Given the description of an element on the screen output the (x, y) to click on. 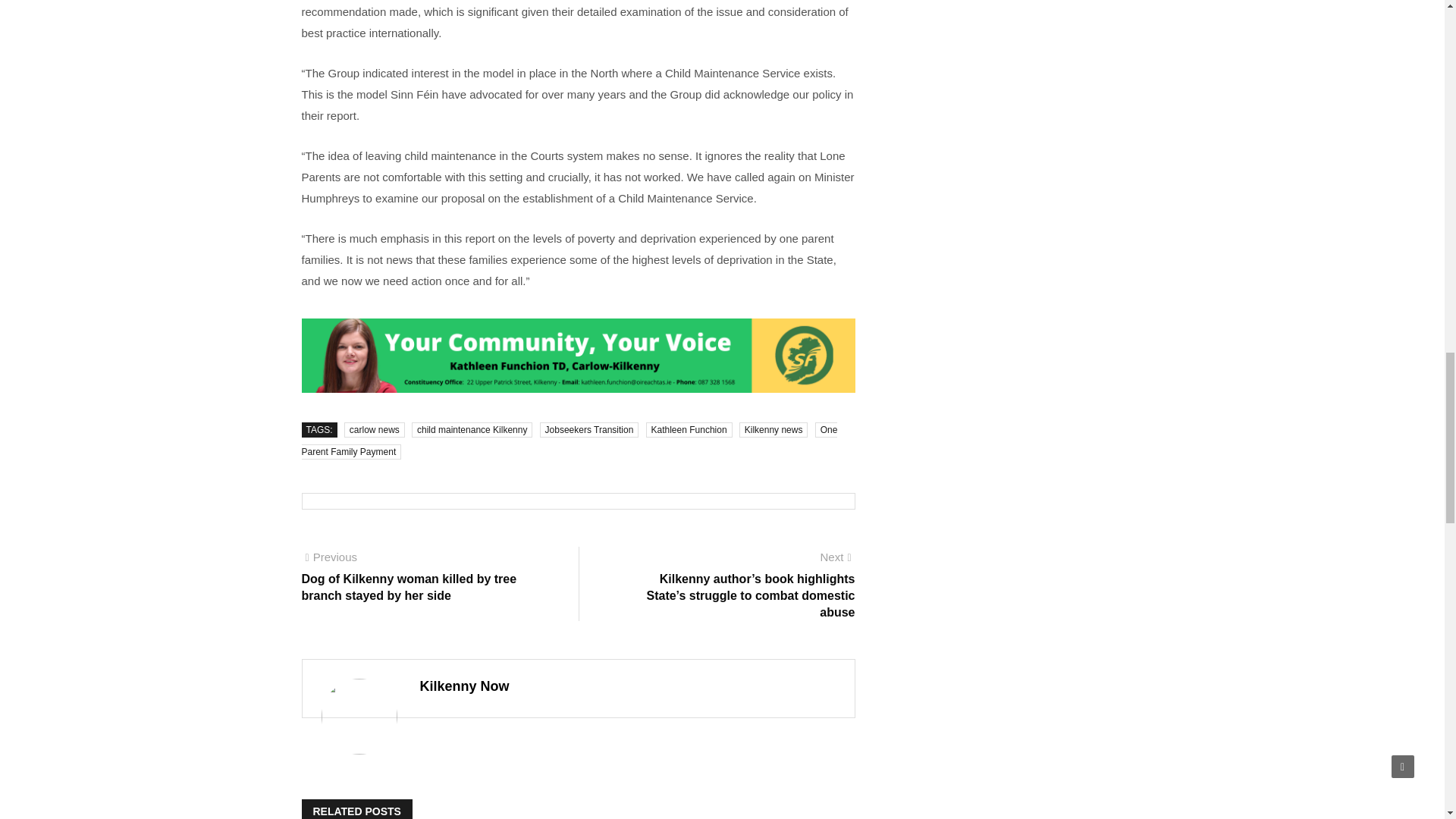
carlow news (373, 429)
Kilkenny Now (464, 685)
Jobseekers Transition (589, 429)
Kathleen Funchion (689, 429)
child maintenance Kilkenny (472, 429)
One Parent Family Payment (569, 440)
Kilkenny news (773, 429)
Posts by Kilkenny Now (464, 685)
